Given the description of an element on the screen output the (x, y) to click on. 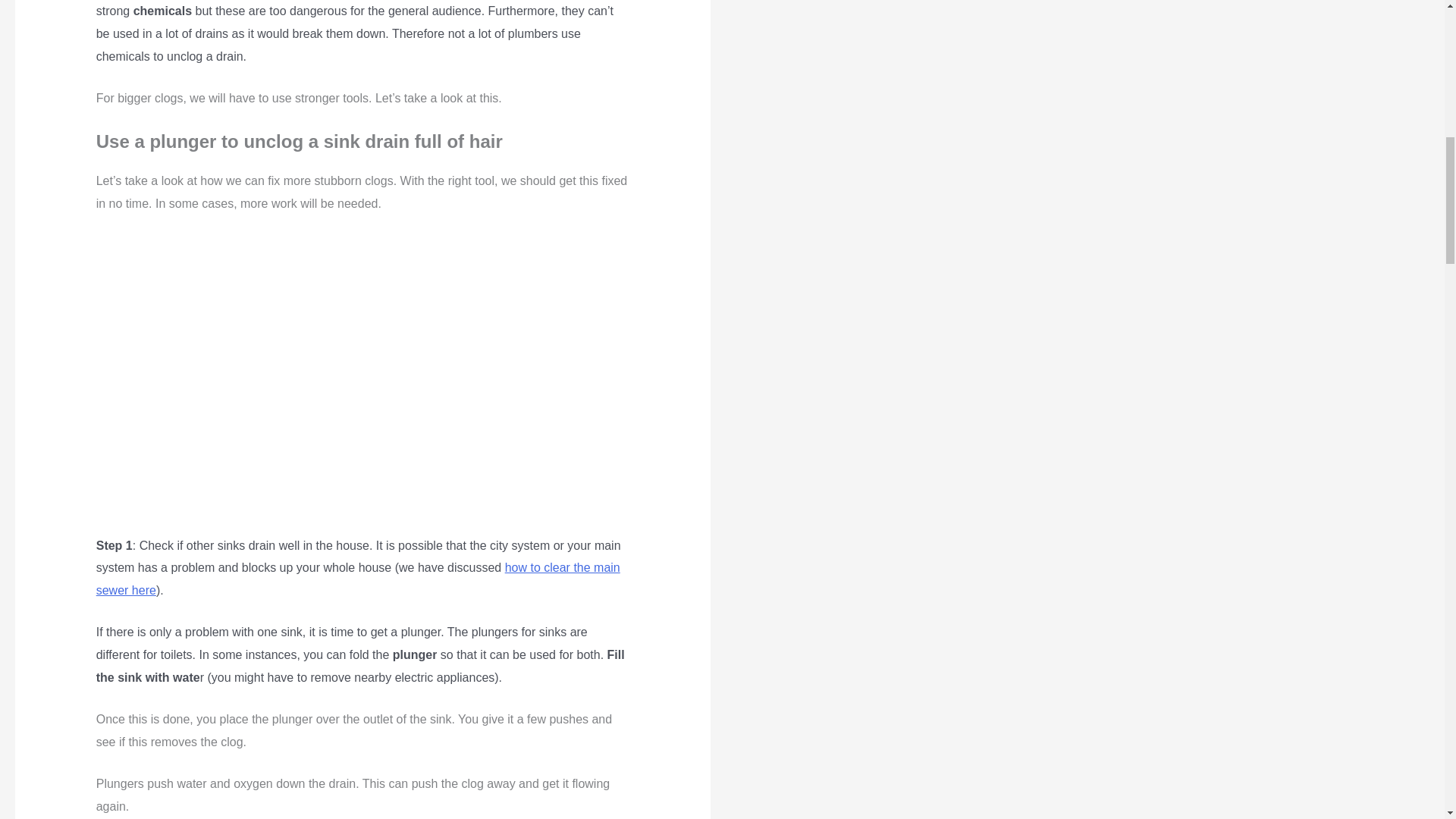
how to clear the main sewer here (358, 579)
